Given the description of an element on the screen output the (x, y) to click on. 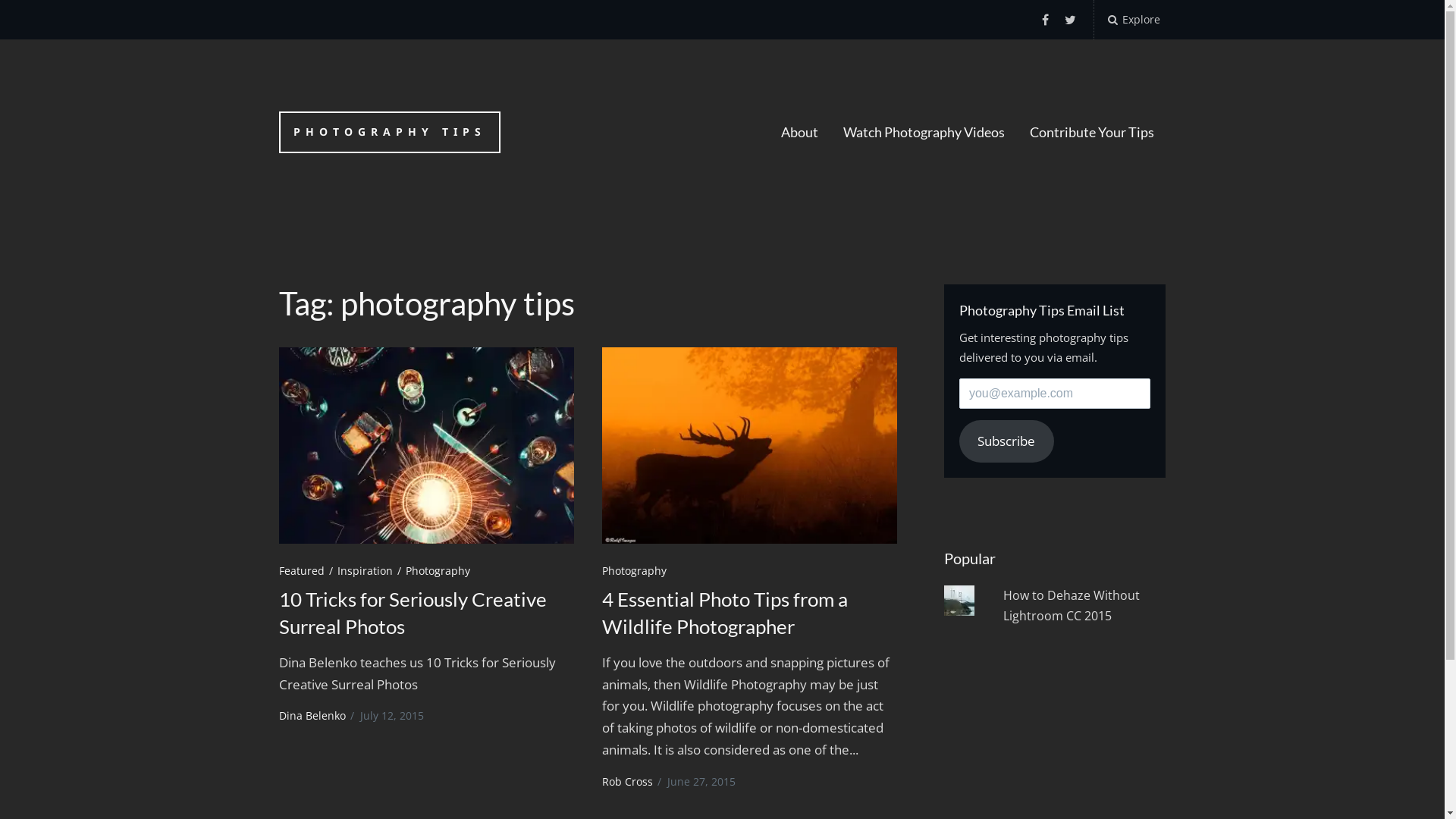
Photography Element type: text (635, 570)
Rob Cross Element type: text (627, 781)
Contribute Your Tips Element type: text (1091, 132)
How to Dehaze Without Lightroom CC 2015 Element type: text (1071, 605)
PHOTOGRAPHY TIPS Element type: text (389, 132)
Inspiration Element type: text (371, 570)
4 Essential Photo Tips from a Wildlife Photographer Element type: hover (749, 445)
About Element type: text (799, 132)
4 Essential Photo Tips from a Wildlife Photographer Element type: text (724, 613)
10 Tricks for Seriously Creative Surreal Photos Element type: text (412, 613)
Photography Element type: text (439, 570)
Watch Photography Videos Element type: text (923, 132)
10 Tricks for Seriously Creative Surreal Photos Element type: hover (426, 445)
Subscribe Element type: text (1006, 440)
Dina Belenko Element type: text (312, 715)
Featured Element type: text (308, 570)
